Given the description of an element on the screen output the (x, y) to click on. 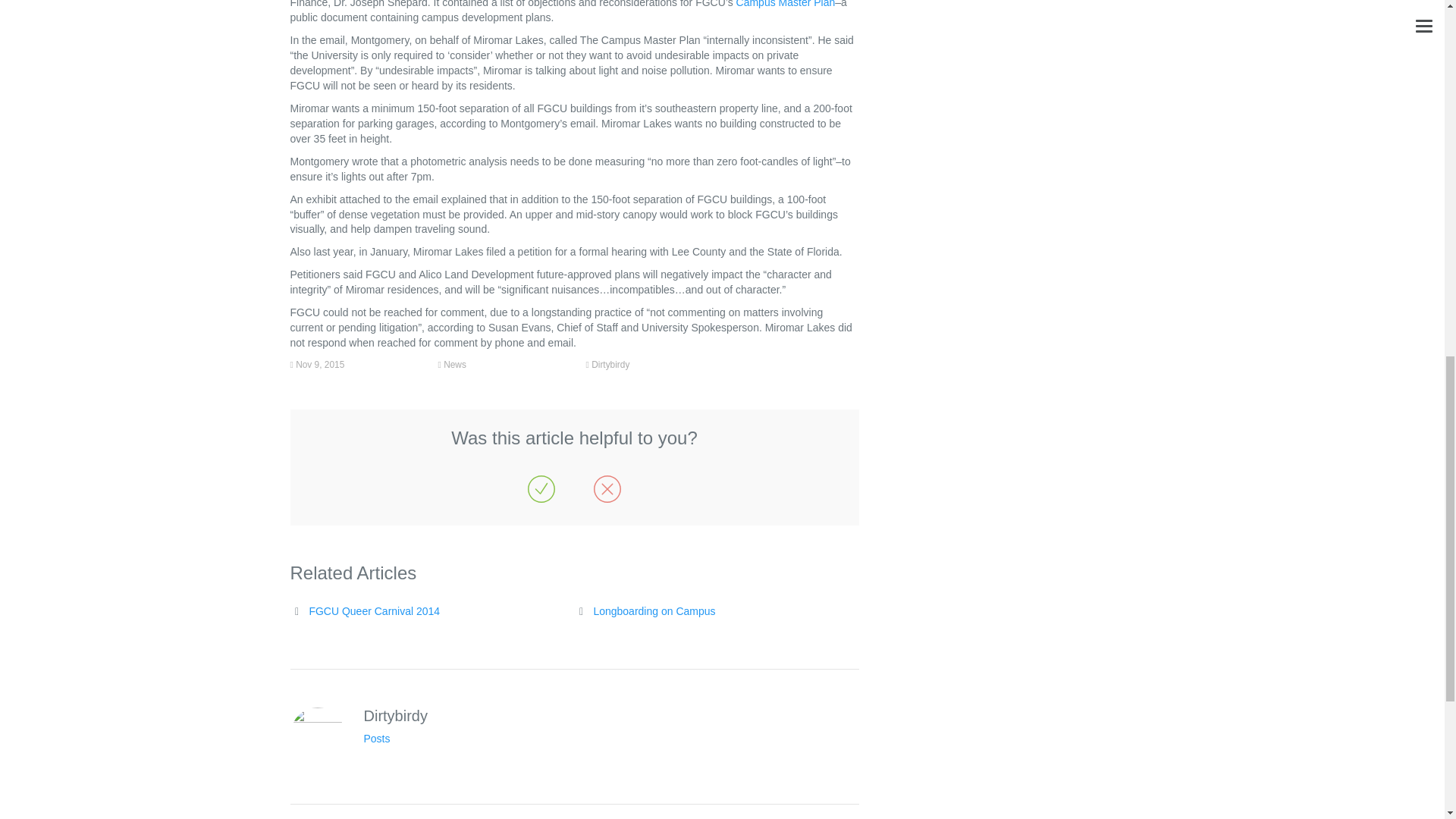
Dirtybirdy Posts (377, 738)
News (454, 364)
Nov 9, 2015 (319, 364)
Longboarding on Campus (653, 611)
View all posts by Dirtybirdy (609, 364)
Campus Master Plan (785, 4)
Posts (377, 738)
FGCU Queer Carnival 2014 (373, 611)
Dirtybirdy (609, 364)
